Given the description of an element on the screen output the (x, y) to click on. 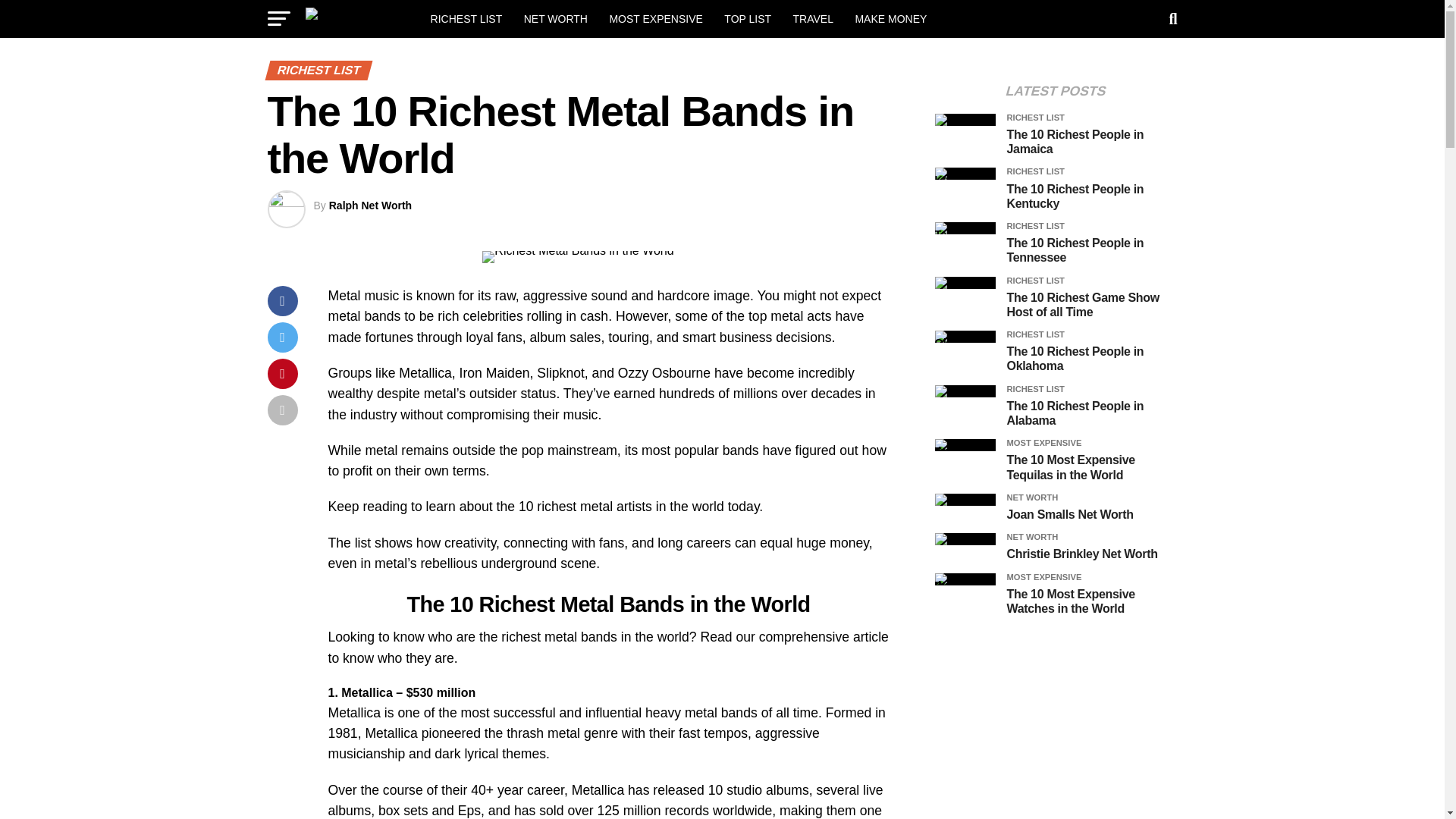
MOST EXPENSIVE (655, 18)
MAKE MONEY (890, 18)
LATEST POSTS (1055, 91)
NET WORTH (555, 18)
RICHEST LIST (467, 18)
TOP LIST (747, 18)
Posts by Ralph Net Worth (370, 205)
TRAVEL (813, 18)
Ralph Net Worth (370, 205)
